Given the description of an element on the screen output the (x, y) to click on. 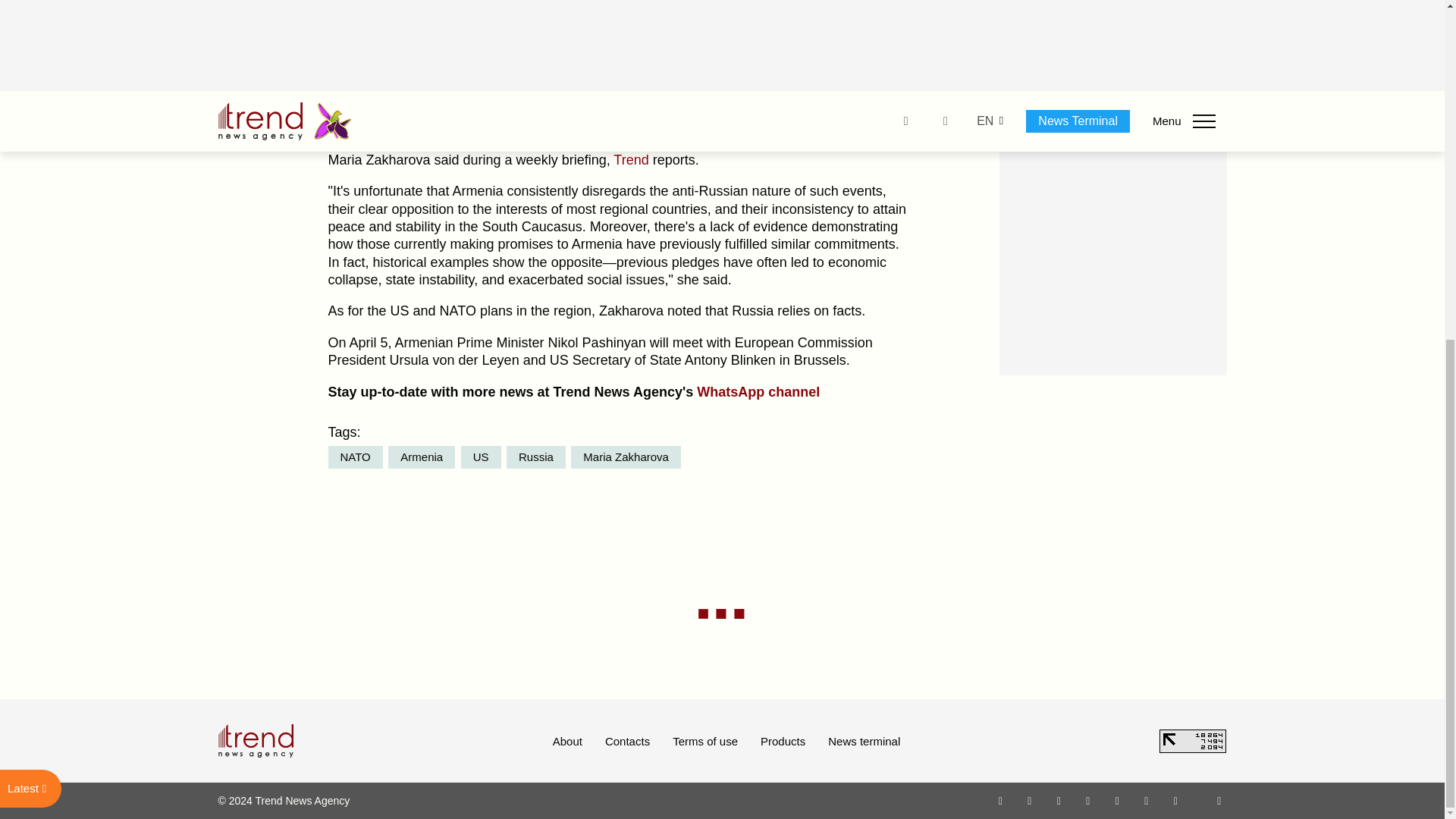
Android App (1176, 800)
Youtube (1088, 800)
RSS Feed (1219, 800)
Facebook (1029, 800)
Whatsapp (1000, 800)
Telegram (1117, 800)
Twitter (1059, 800)
LinkedIn (1146, 800)
